Given the description of an element on the screen output the (x, y) to click on. 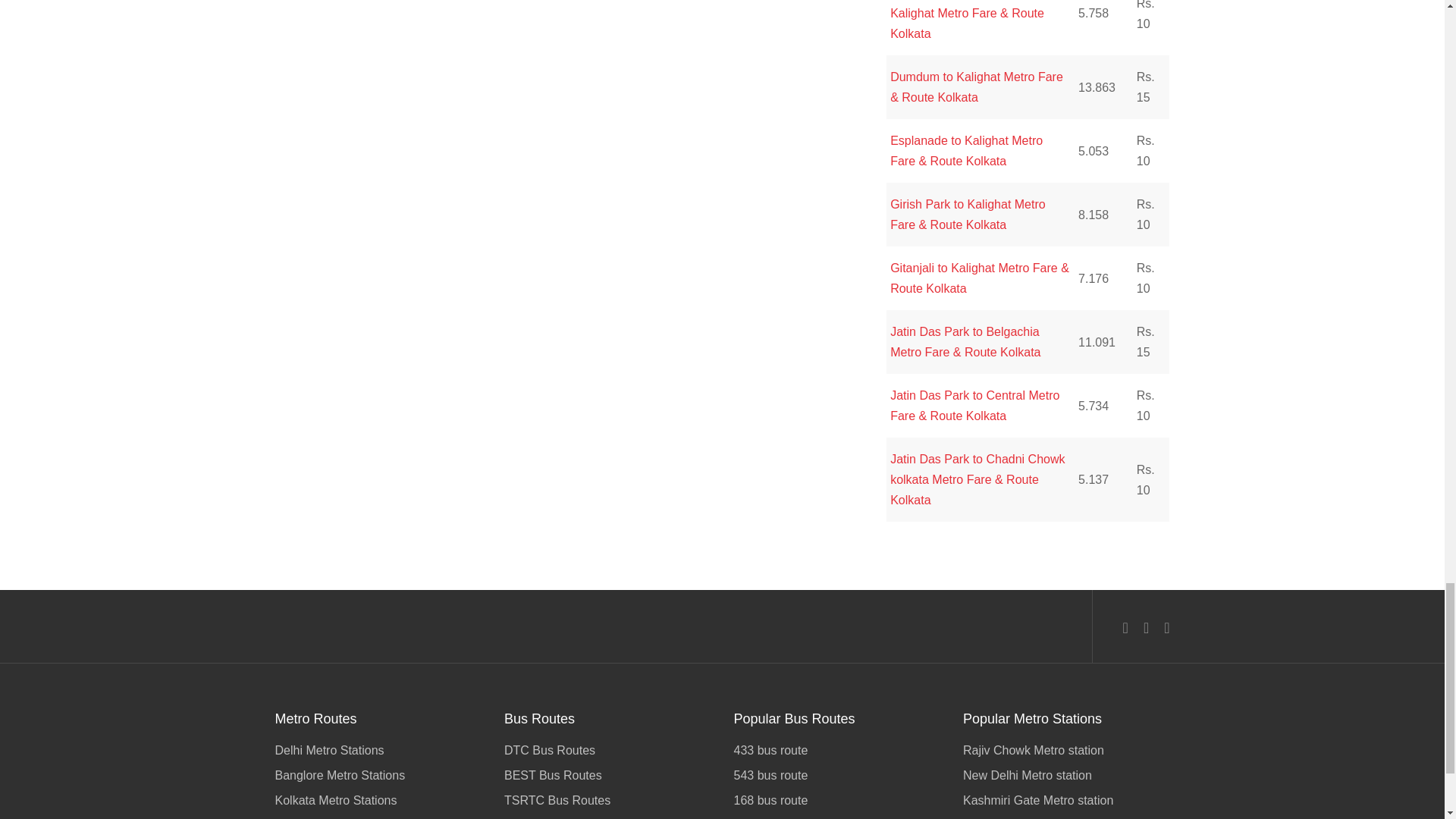
BEST Bus Routes (607, 774)
Chennai Metro Stations (378, 816)
433 bus route (836, 751)
TSRTC Bus Routes (607, 800)
Delhi Metro Stations (378, 751)
Kolkata Metro Stations (378, 800)
271 bus route (836, 816)
Twitter (1145, 627)
Pinterest (1166, 627)
DTC Bus Routes (607, 751)
Facebook (1125, 627)
168 bus route (836, 800)
AMTS Bus Routes (607, 816)
Banglore Metro Stations (378, 774)
543 bus route (836, 774)
